Given the description of an element on the screen output the (x, y) to click on. 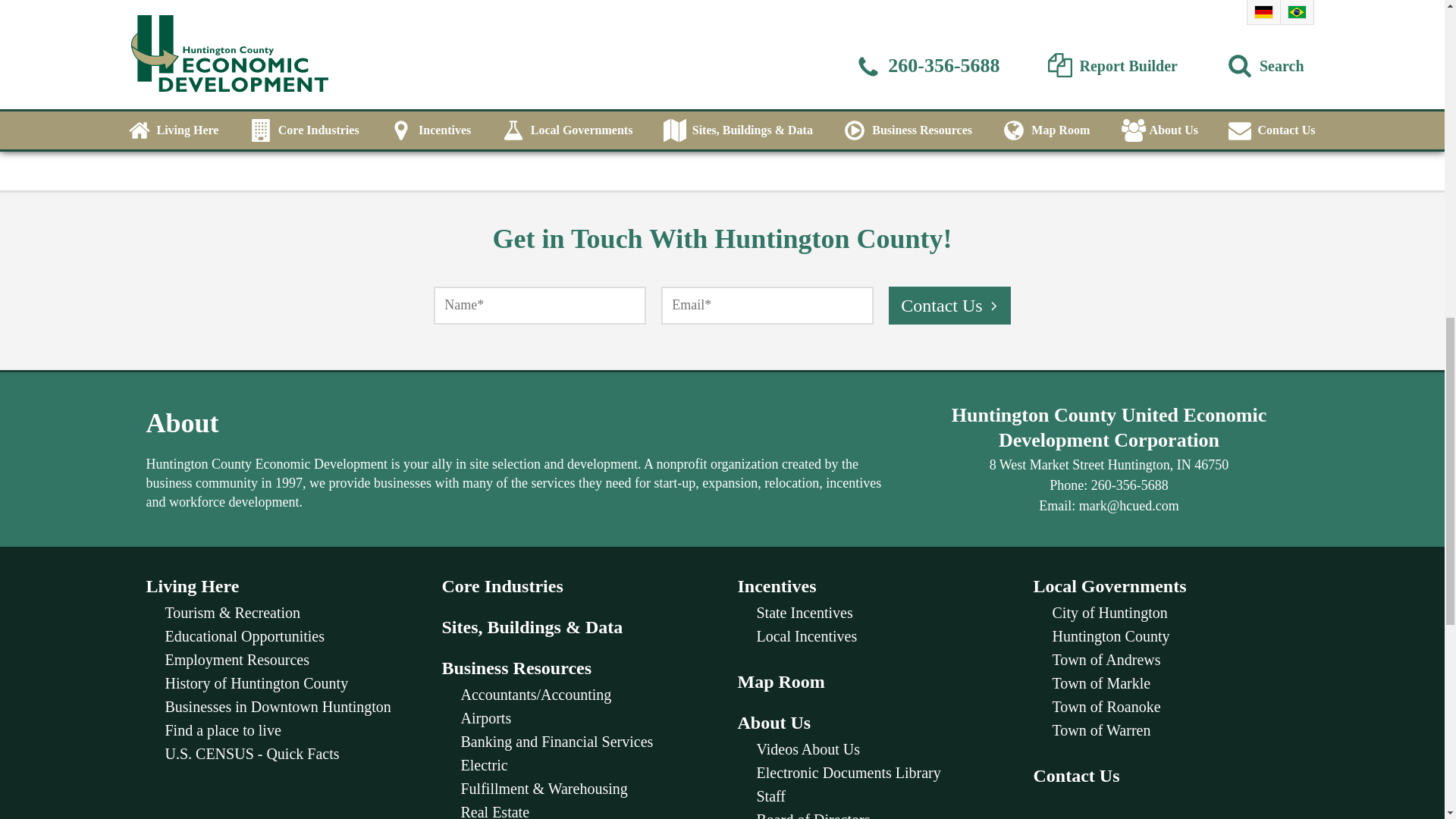
Contact Us (949, 305)
